Given the description of an element on the screen output the (x, y) to click on. 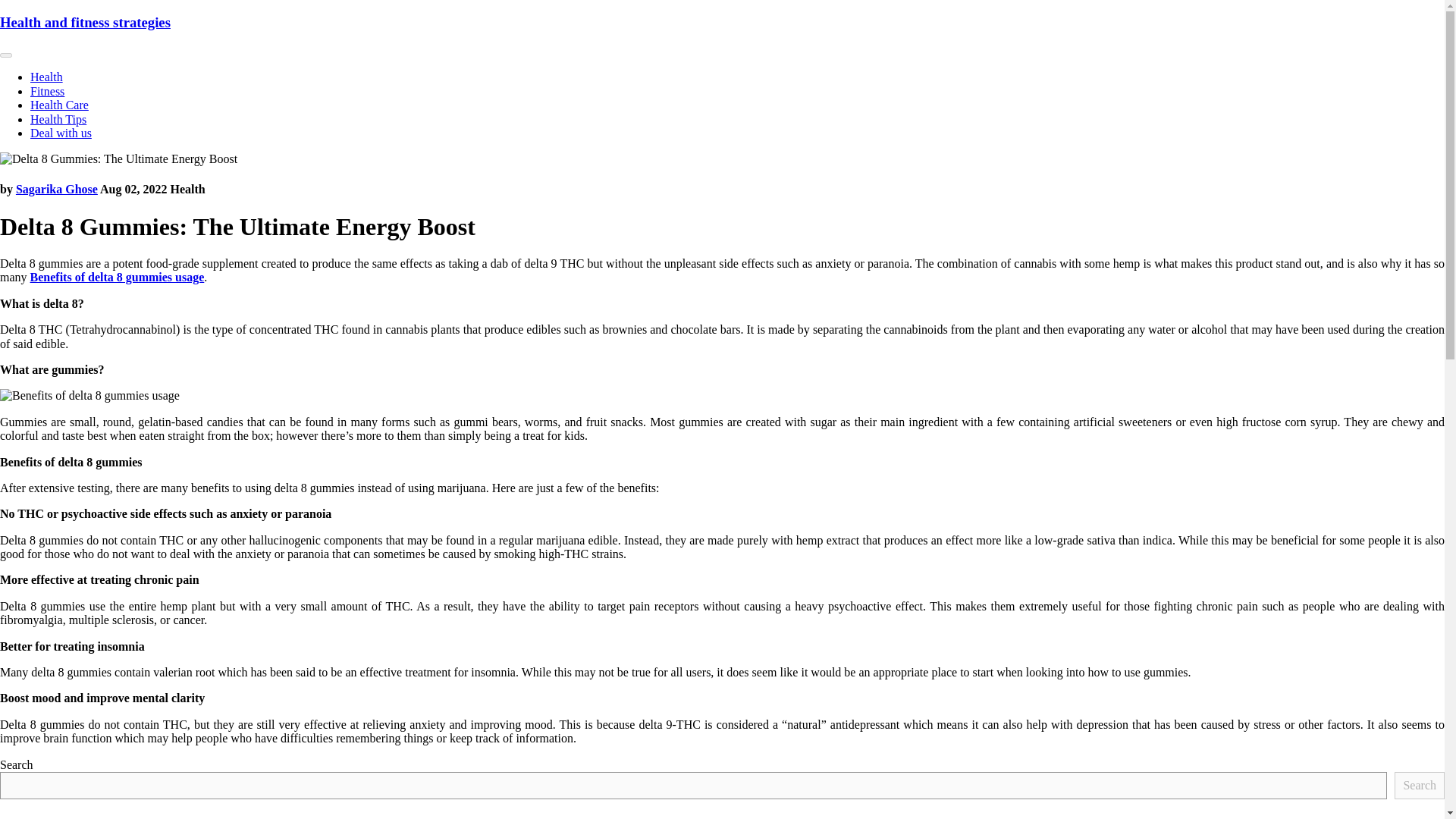
Sagarika Ghose (56, 188)
Health Tips (57, 119)
Deal with us (60, 132)
Benefits of delta 8 gummies usage (117, 277)
Health Care (59, 104)
Fitness (47, 91)
Health (46, 76)
